Given the description of an element on the screen output the (x, y) to click on. 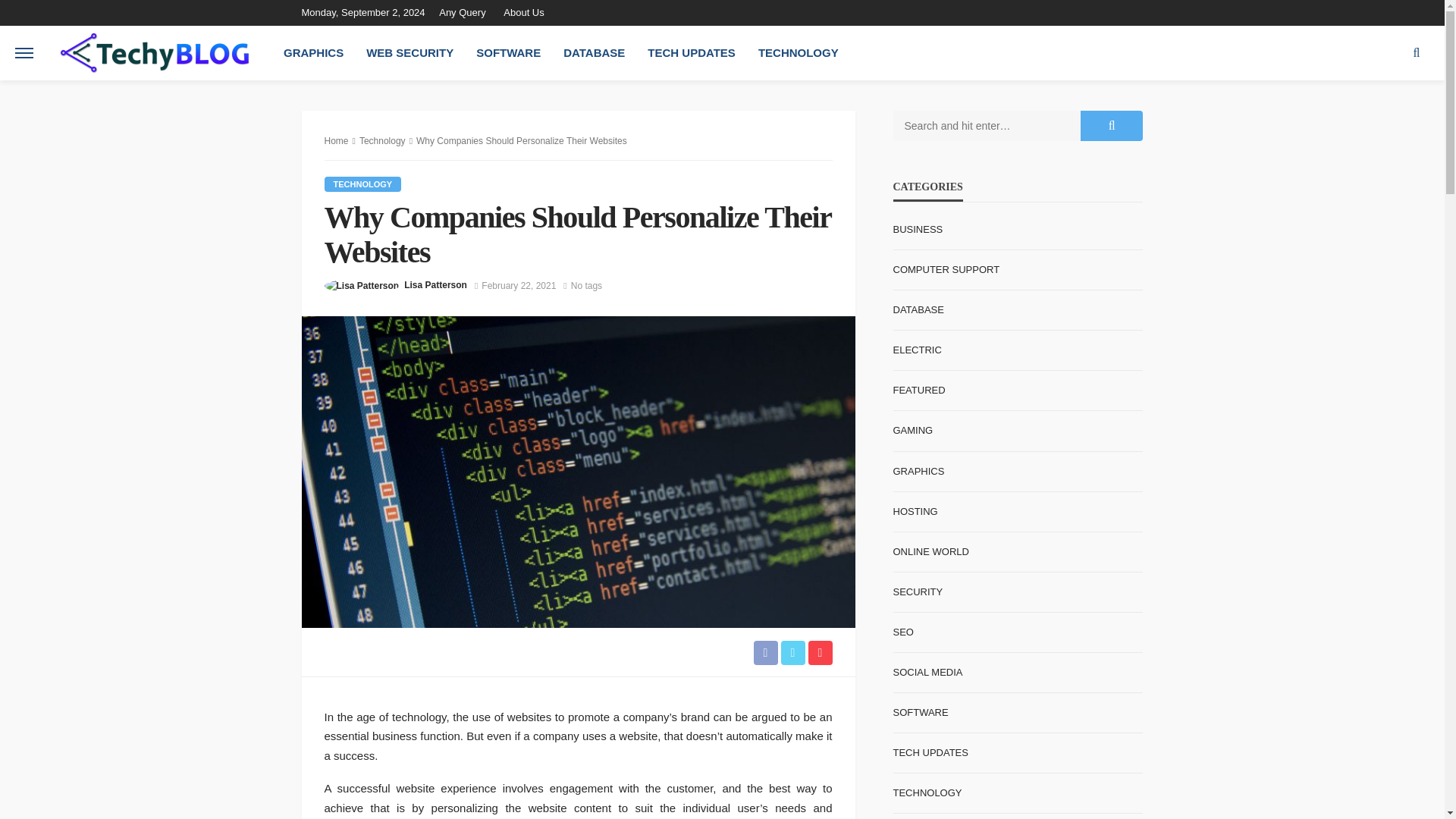
SOFTWARE (507, 52)
Home (336, 140)
TECHNOLOGY (798, 52)
WEB SECURITY (409, 52)
Lisa Patterson (435, 284)
Techy Blog (153, 52)
Technology (382, 140)
Technology (362, 183)
TECH UPDATES (691, 52)
GRAPHICS (313, 52)
